Given the description of an element on the screen output the (x, y) to click on. 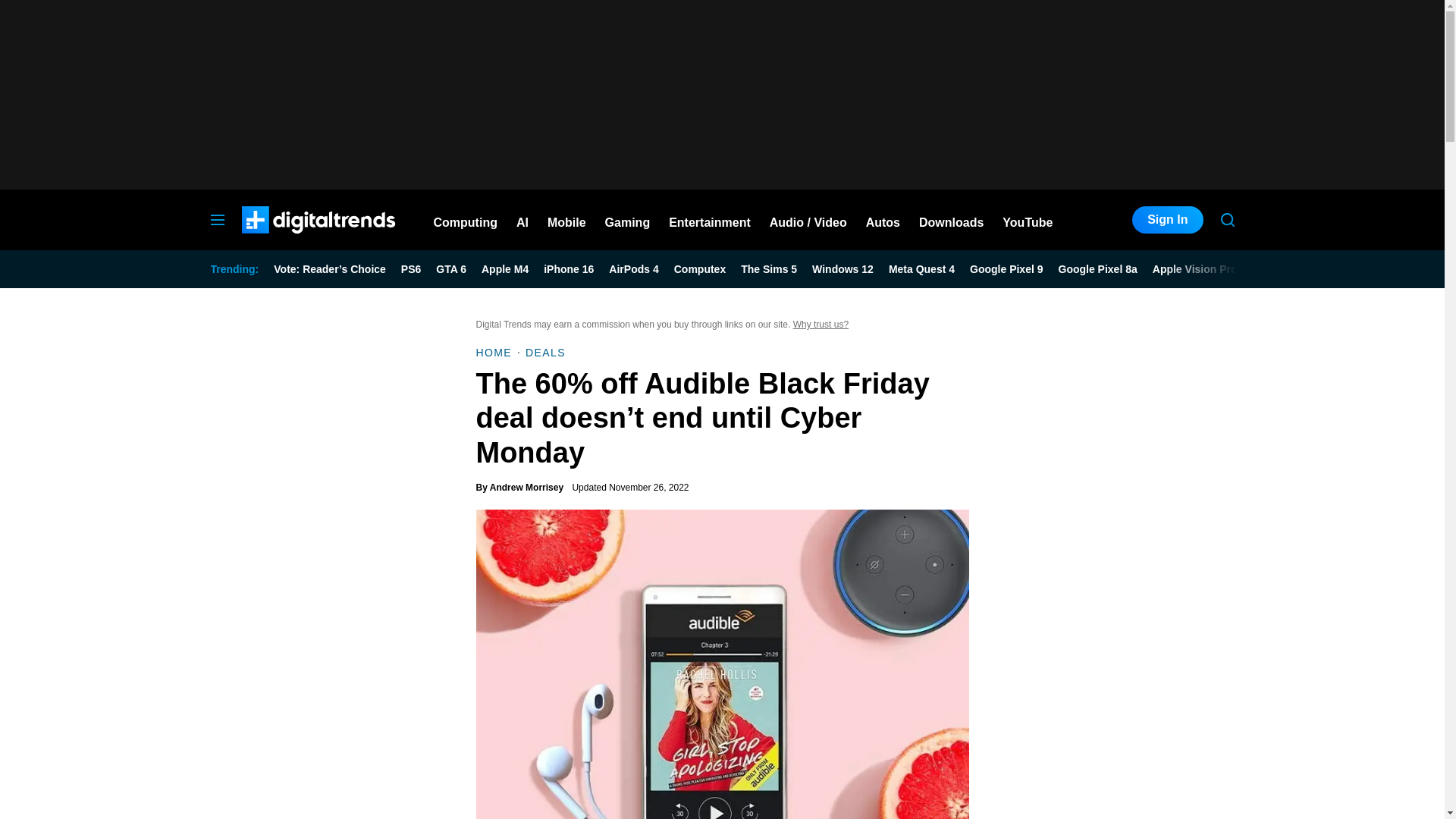
Sign In (1167, 219)
Entertainment (709, 219)
Computing (465, 219)
Downloads (951, 219)
